Given the description of an element on the screen output the (x, y) to click on. 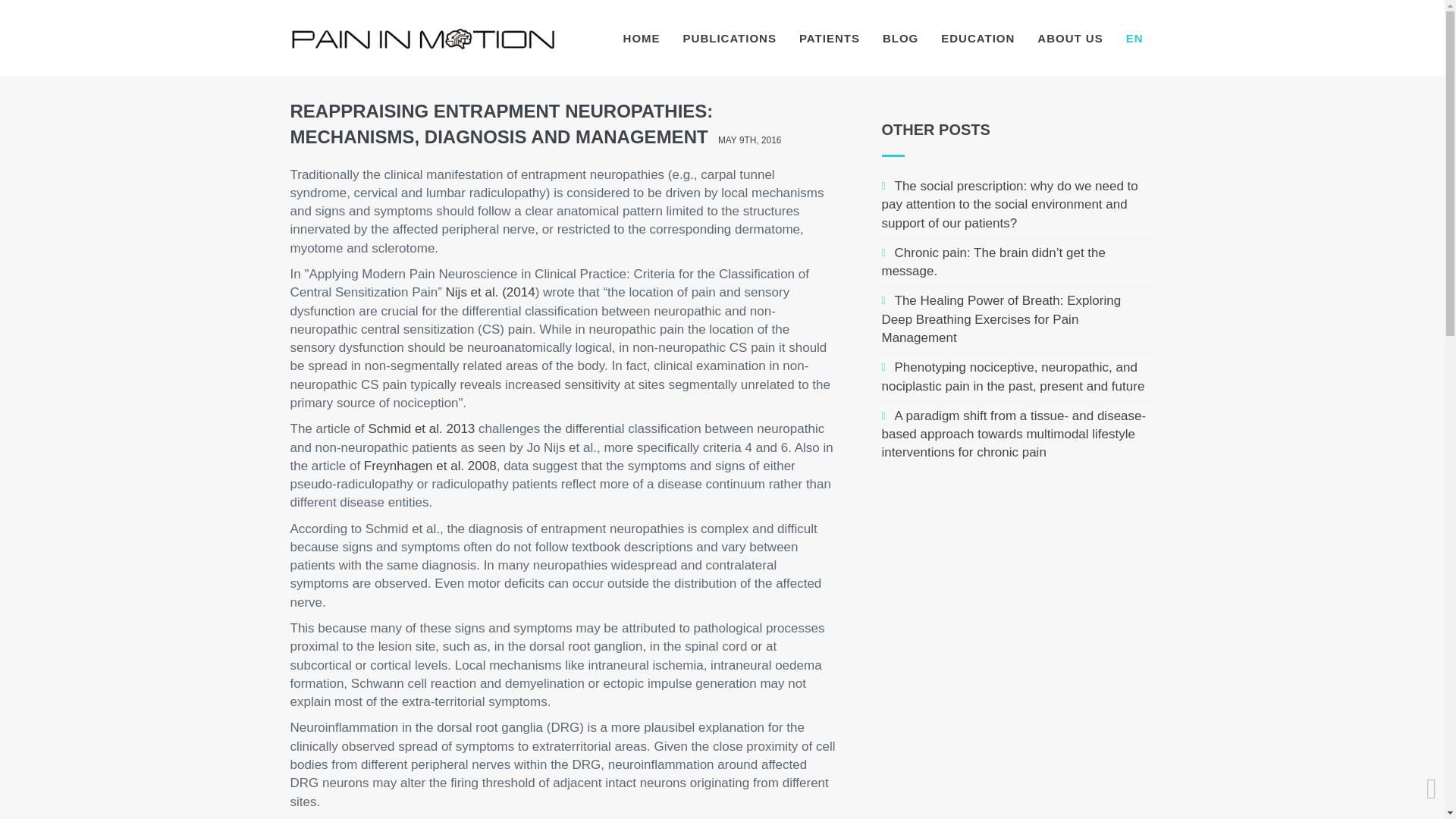
EDUCATION (978, 38)
PATIENTS (828, 38)
PUBLICATIONS (729, 38)
Freynhagen et al. 2008 (430, 465)
Schmid et al. 2013 (422, 428)
ABOUT US (1069, 38)
